Given the description of an element on the screen output the (x, y) to click on. 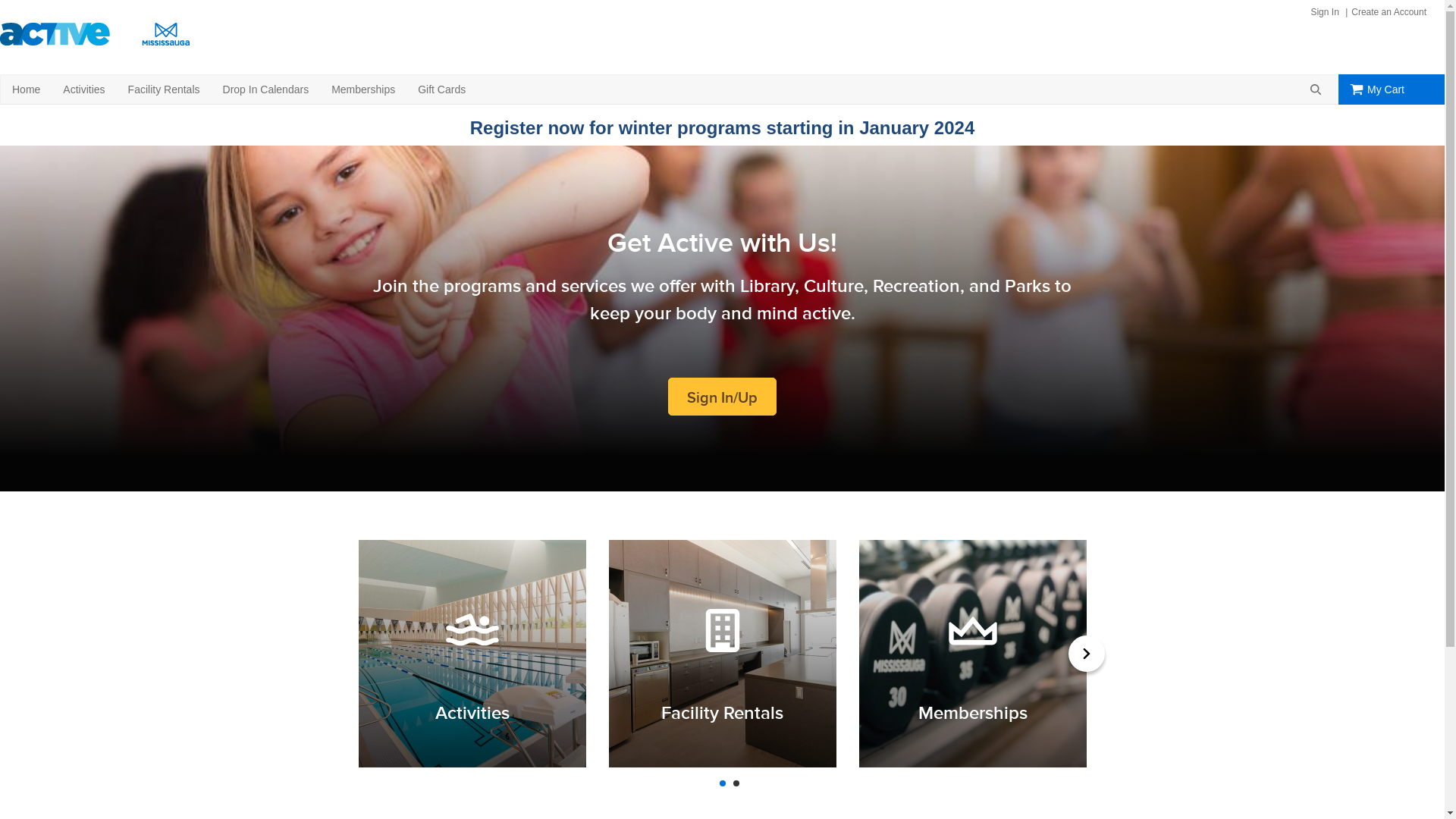
Drop In Calendars Element type: text (265, 89)
Gift Cards Element type: text (441, 89)
Home Element type: text (25, 89)
2 Element type: text (735, 783)
Activities Element type: text (83, 89)
1 Element type: text (721, 783)
My Cart Element type: text (1391, 89)
ActiveMississauga Element type: hover (94, 33)
Activities Element type: text (471, 653)
Facility Rentals Element type: text (163, 89)
Memberships Element type: text (363, 89)
Create an Account Element type: text (1386, 11)
Sign In/Up Element type: text (722, 396)
Facility Rentals Element type: text (721, 653)
Sign In Element type: text (1324, 11)
Memberships Element type: text (971, 653)
